Given the description of an element on the screen output the (x, y) to click on. 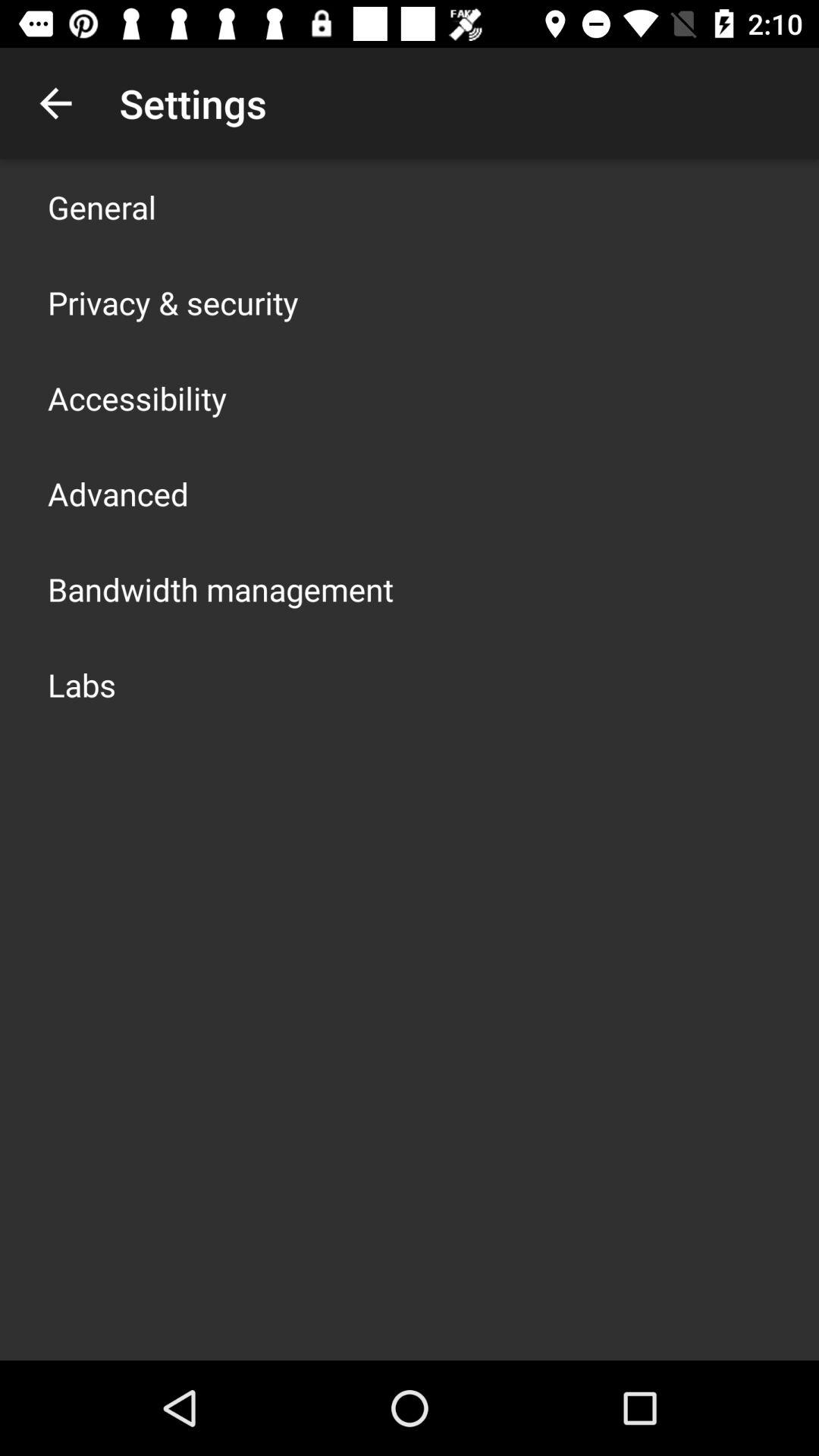
flip to advanced icon (117, 493)
